Given the description of an element on the screen output the (x, y) to click on. 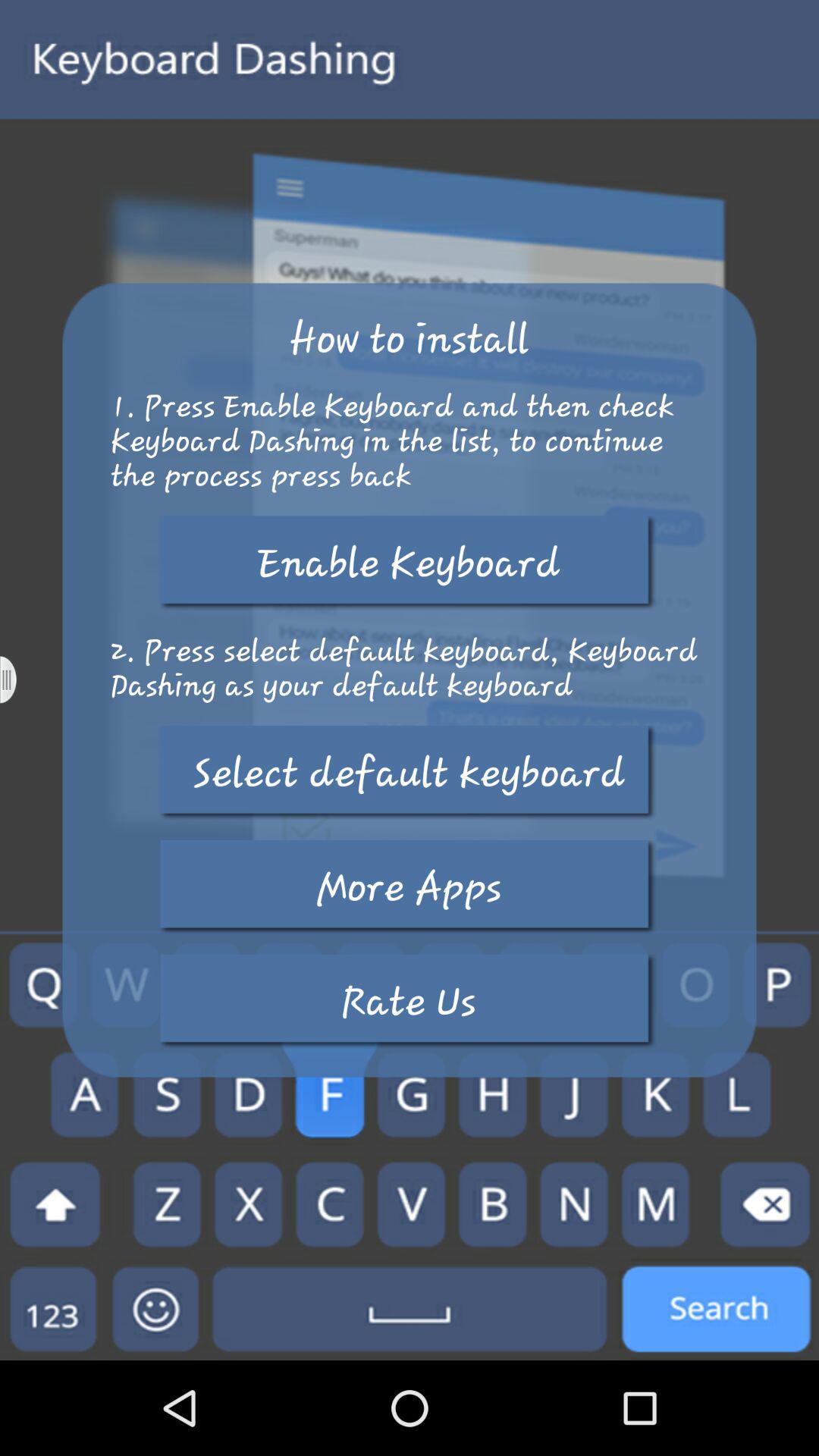
turn on item to the left of the 2 press select item (18, 679)
